Given the description of an element on the screen output the (x, y) to click on. 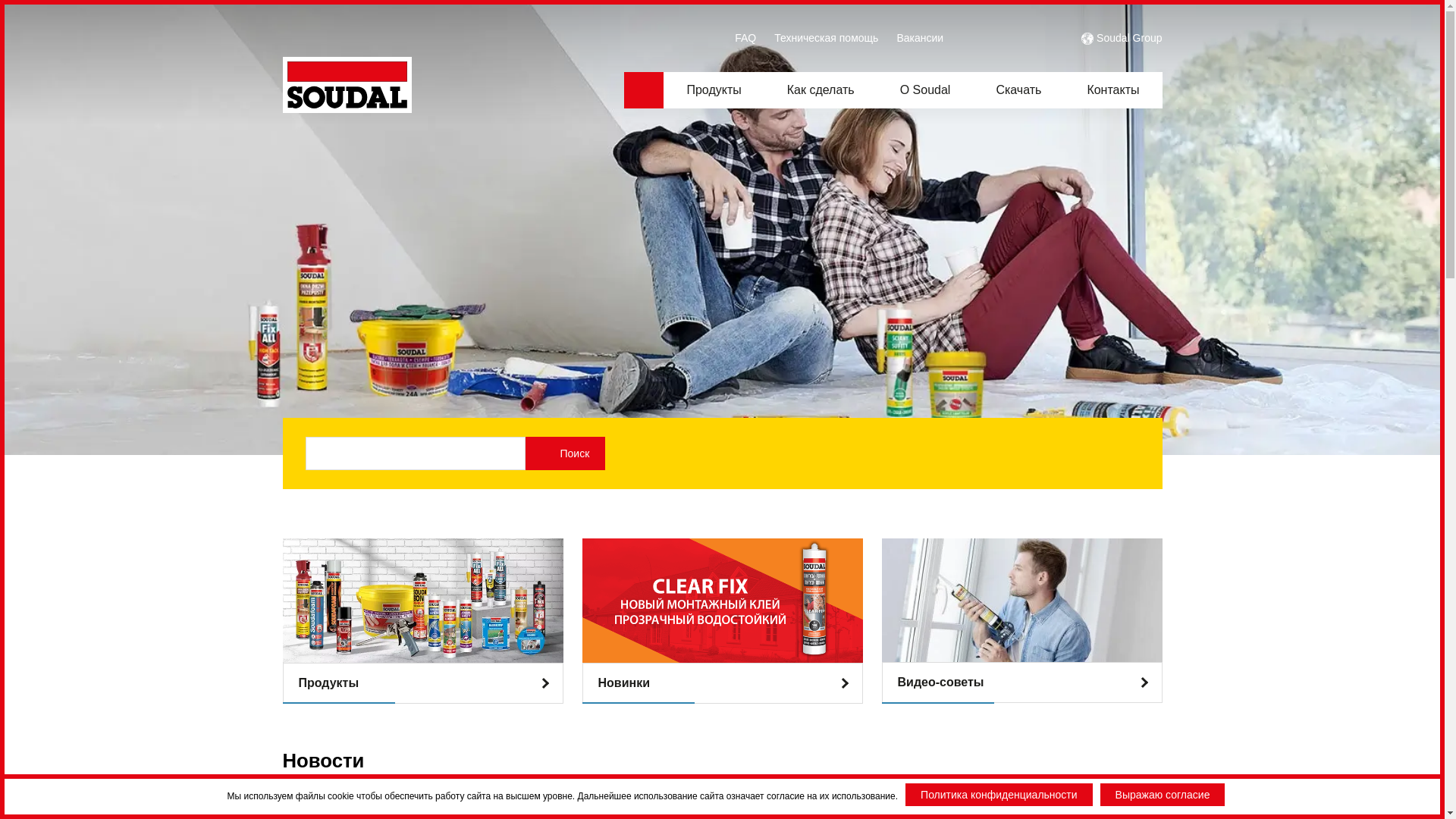
Soudal Group Element type: text (1128, 38)
FAQ Element type: text (745, 37)
